Given the description of an element on the screen output the (x, y) to click on. 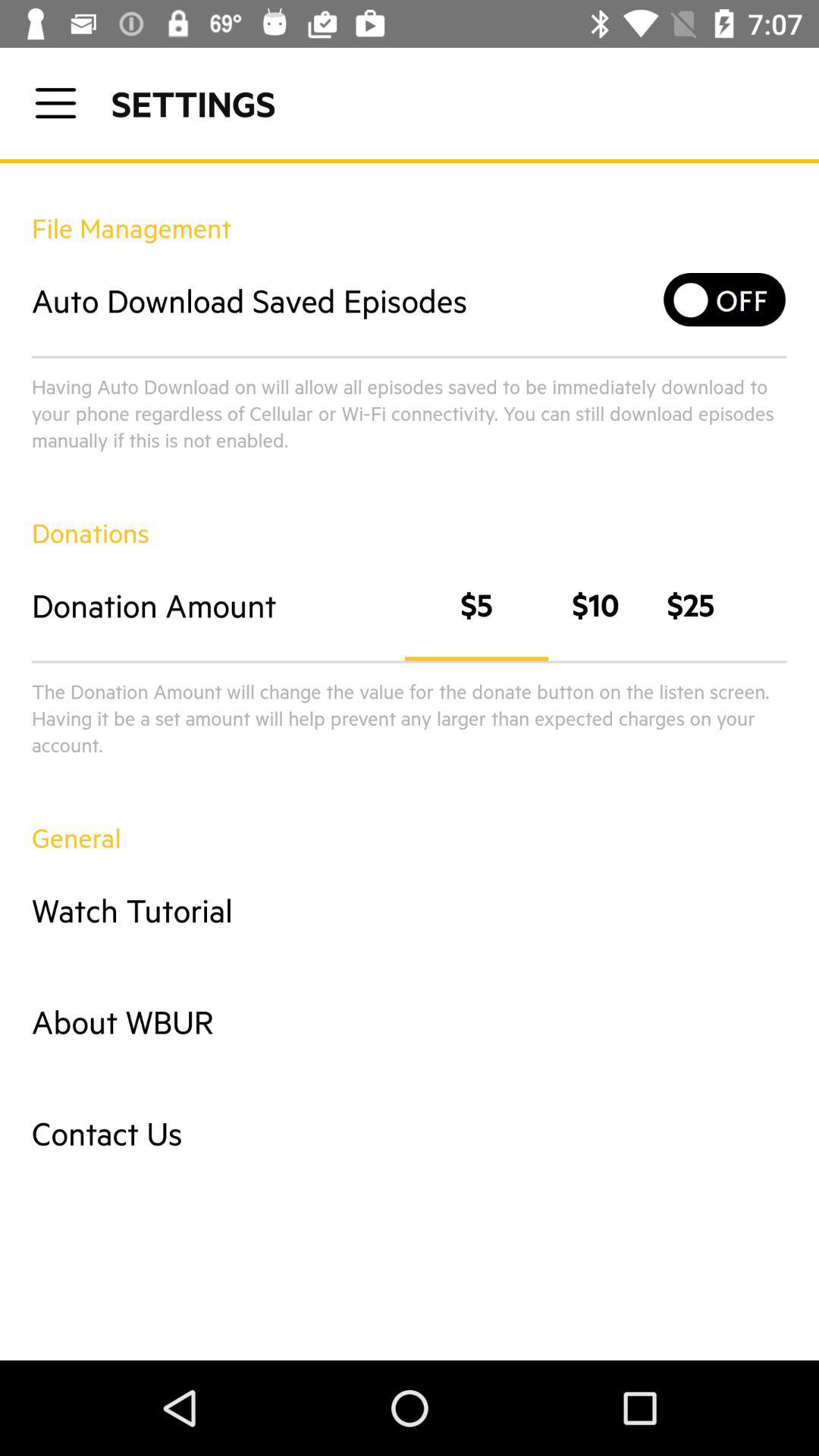
turn on the item below the watch tutorial item (409, 1021)
